Given the description of an element on the screen output the (x, y) to click on. 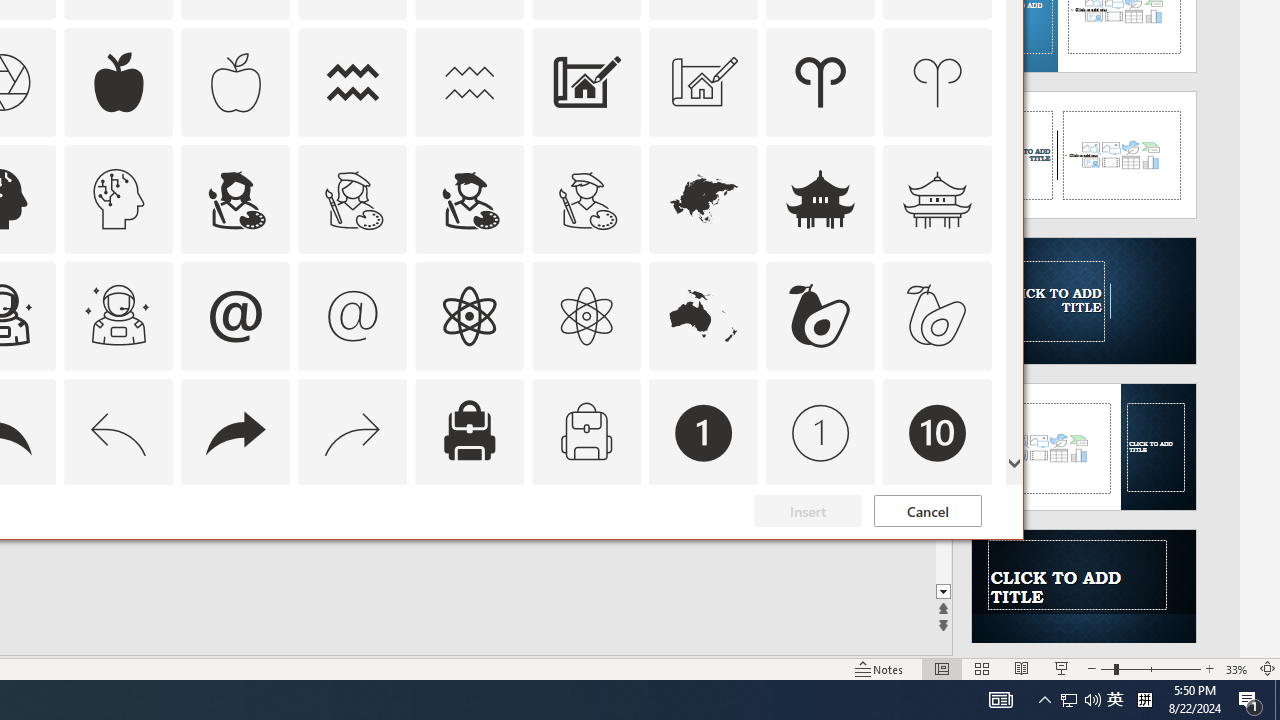
AutomationID: Icons_Atom (469, 316)
AutomationID: Icons_Avocado (820, 316)
AutomationID: Icons_Back_RTL_M (353, 432)
AutomationID: Icons_AsianTemple (820, 198)
Thumbnail (977, 511)
